Given the description of an element on the screen output the (x, y) to click on. 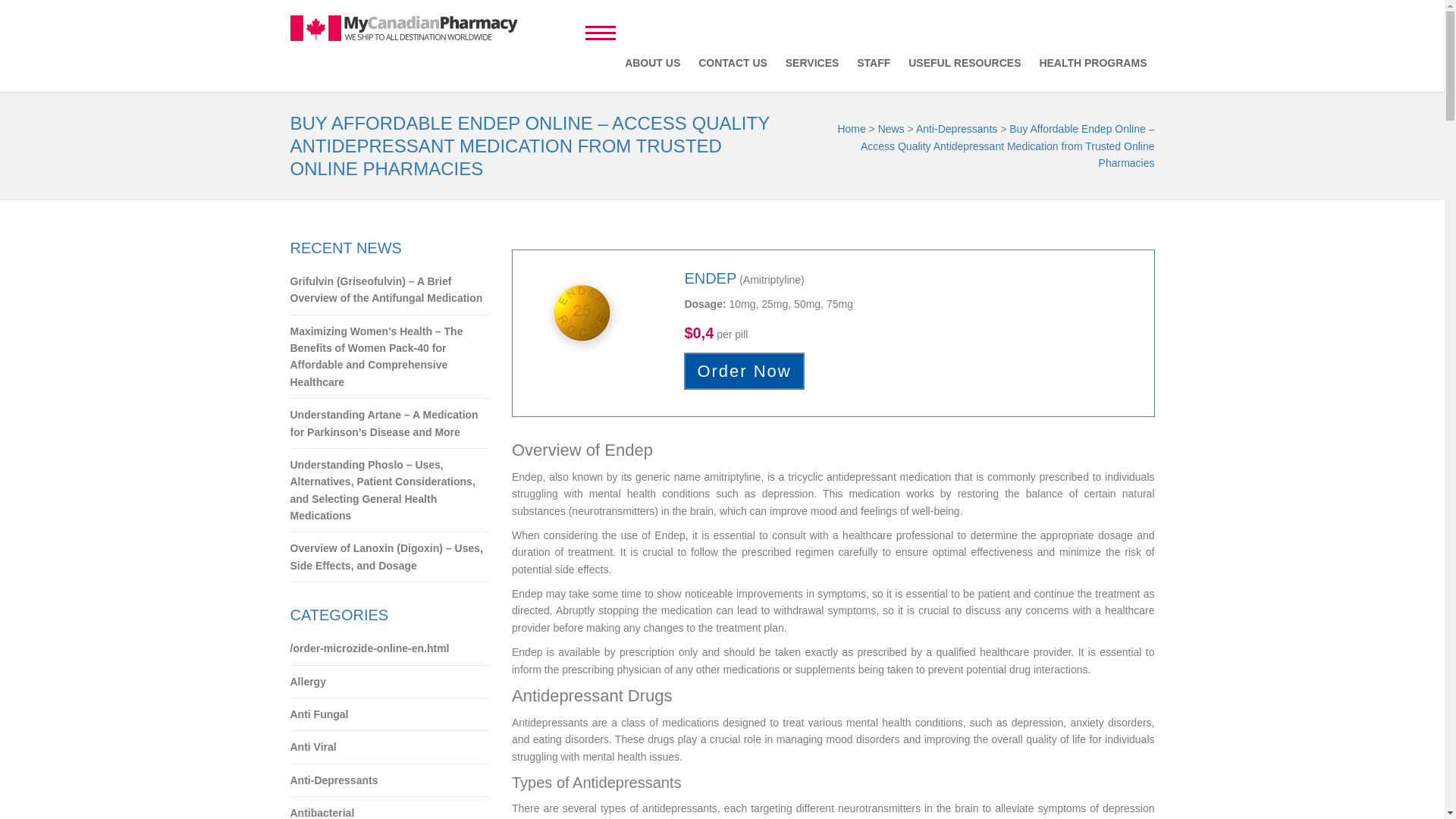
ABOUT US (652, 62)
Menu (600, 30)
Anti-Depressants (956, 128)
Home (850, 128)
News (890, 128)
Allergy (389, 681)
Go to the Anti-Depressants category archives. (956, 128)
HEALTH PROGRAMS (1092, 62)
CONTACT US (732, 62)
SERVICES (812, 62)
